Given the description of an element on the screen output the (x, y) to click on. 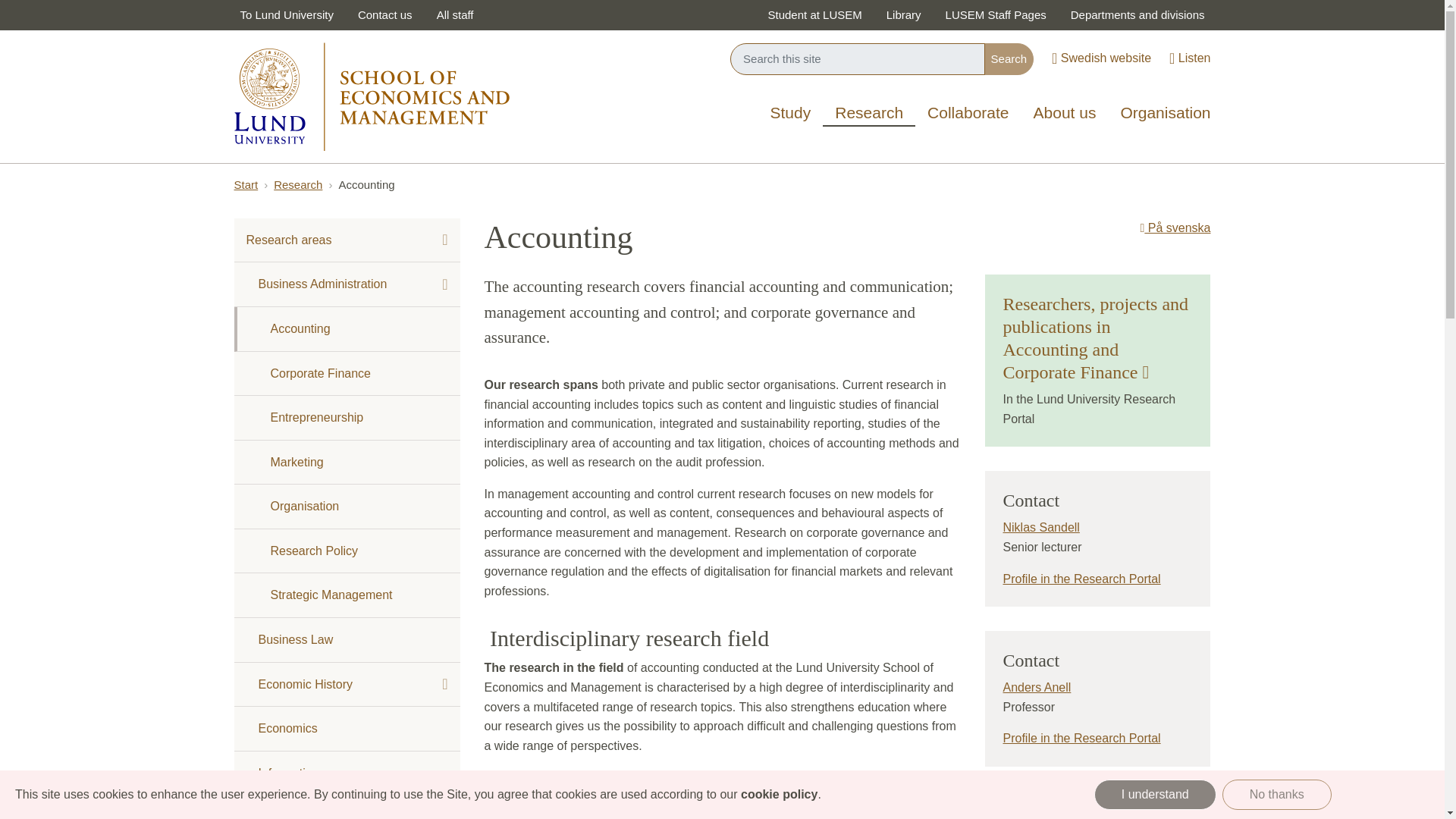
Search (1008, 59)
I understand (1154, 794)
Research (868, 110)
Collaborate (967, 113)
Swedish website (1101, 59)
Search (1008, 59)
cookie policy (778, 793)
Library (904, 15)
No thanks (1277, 794)
All staff (455, 15)
To Lund University (286, 15)
Student at LUSEM (815, 15)
LUSEM Staff Pages (995, 15)
Study (791, 113)
Departments and divisions (1137, 15)
